Given the description of an element on the screen output the (x, y) to click on. 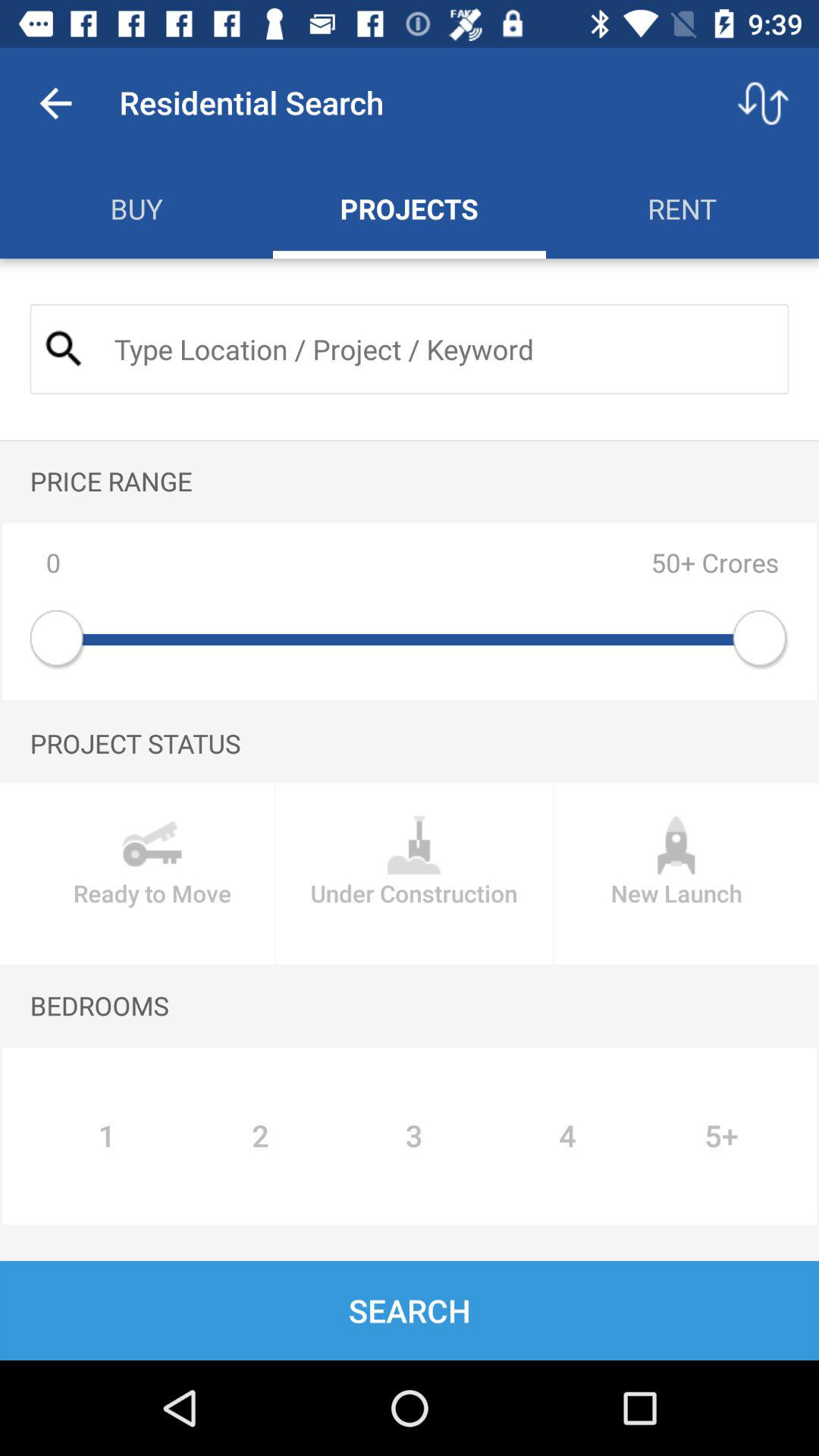
search box (438, 349)
